Given the description of an element on the screen output the (x, y) to click on. 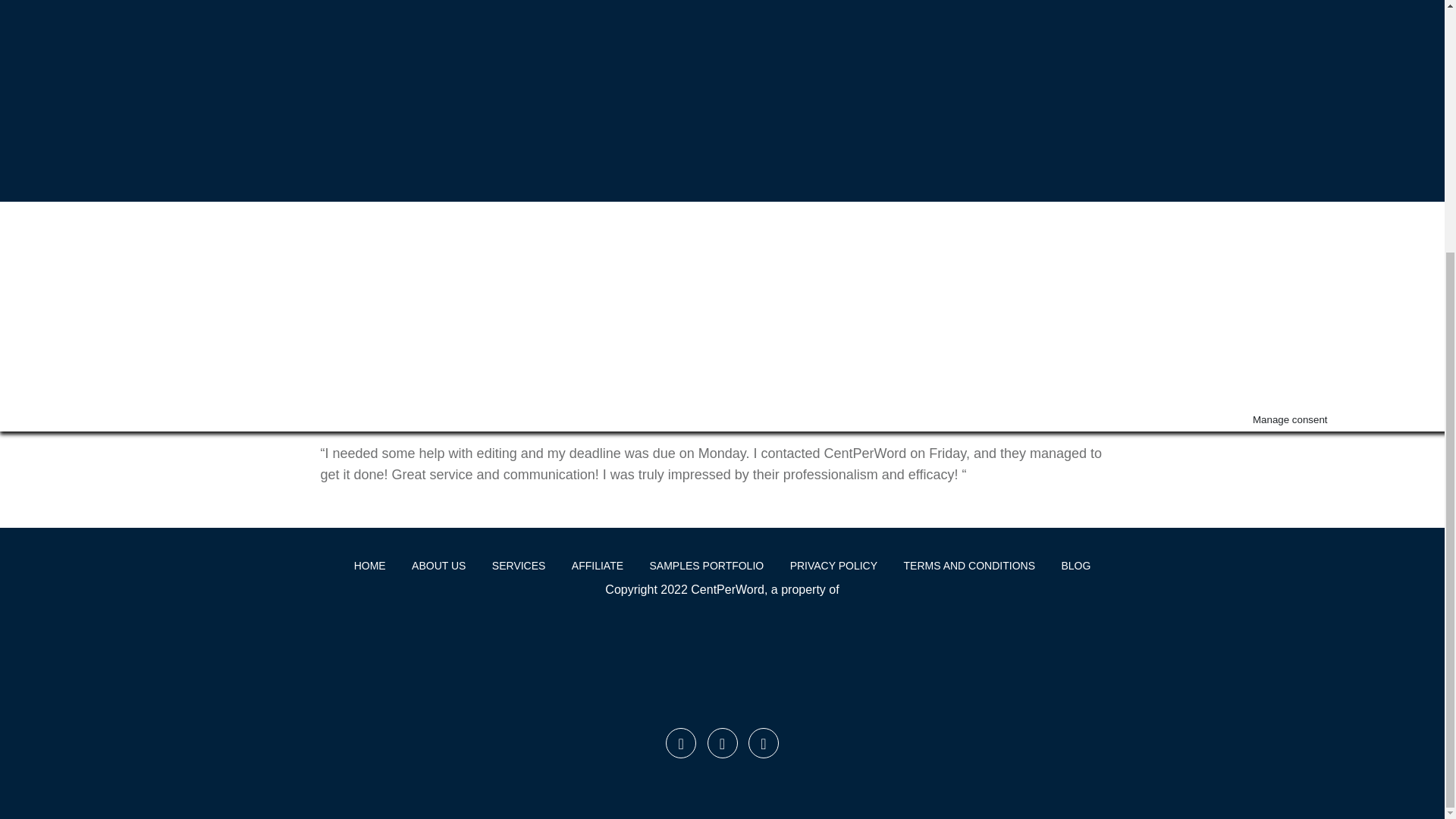
SERVICES (518, 565)
TERMS AND CONDITIONS (969, 565)
ABOUT US (438, 565)
HOME (369, 565)
BLOG (1075, 565)
PRIVACY POLICY (833, 565)
AFFILIATE (597, 565)
SAMPLES PORTFOLIO (707, 565)
